Given the description of an element on the screen output the (x, y) to click on. 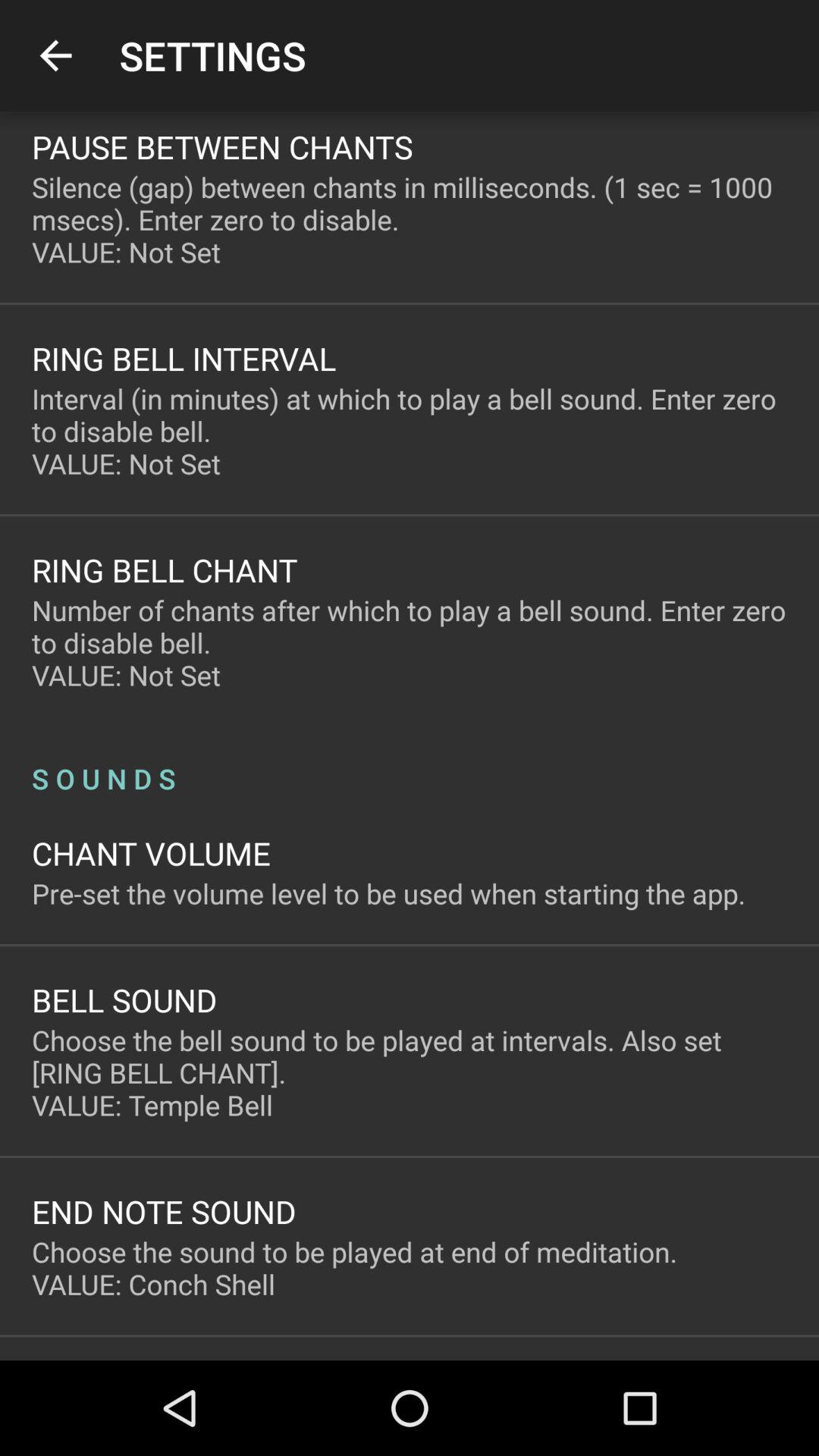
click item above s o u (409, 642)
